Given the description of an element on the screen output the (x, y) to click on. 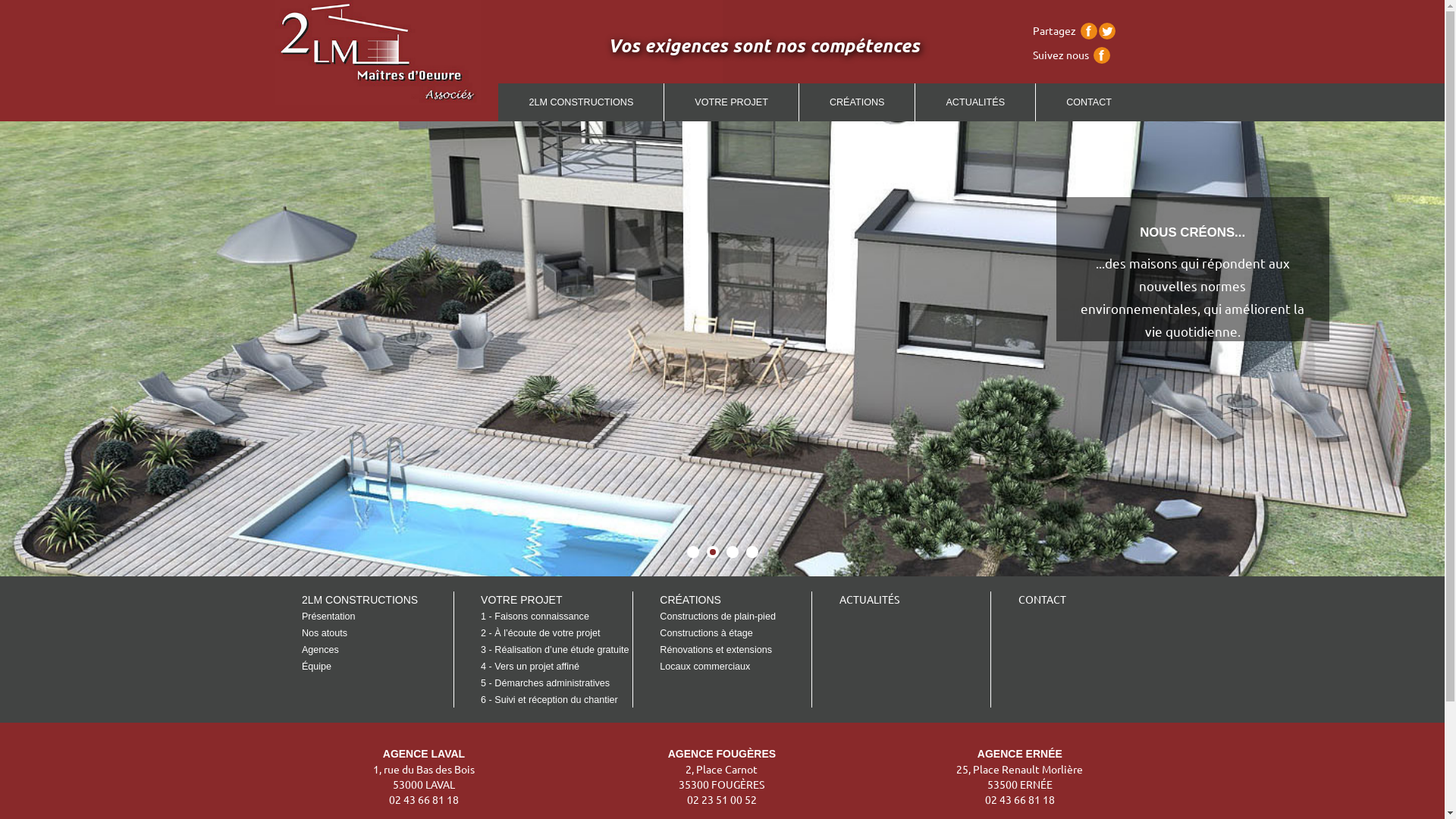
Constructions de plain-pied Element type: text (717, 616)
CONTACT Element type: text (1088, 102)
CONTACT Element type: text (1042, 598)
Nos atouts Element type: text (324, 632)
Locaux commerciaux Element type: text (704, 666)
Agences Element type: text (319, 649)
Suivez nous Element type: text (1060, 54)
1 - Faisons connaissance Element type: text (534, 616)
